Given the description of an element on the screen output the (x, y) to click on. 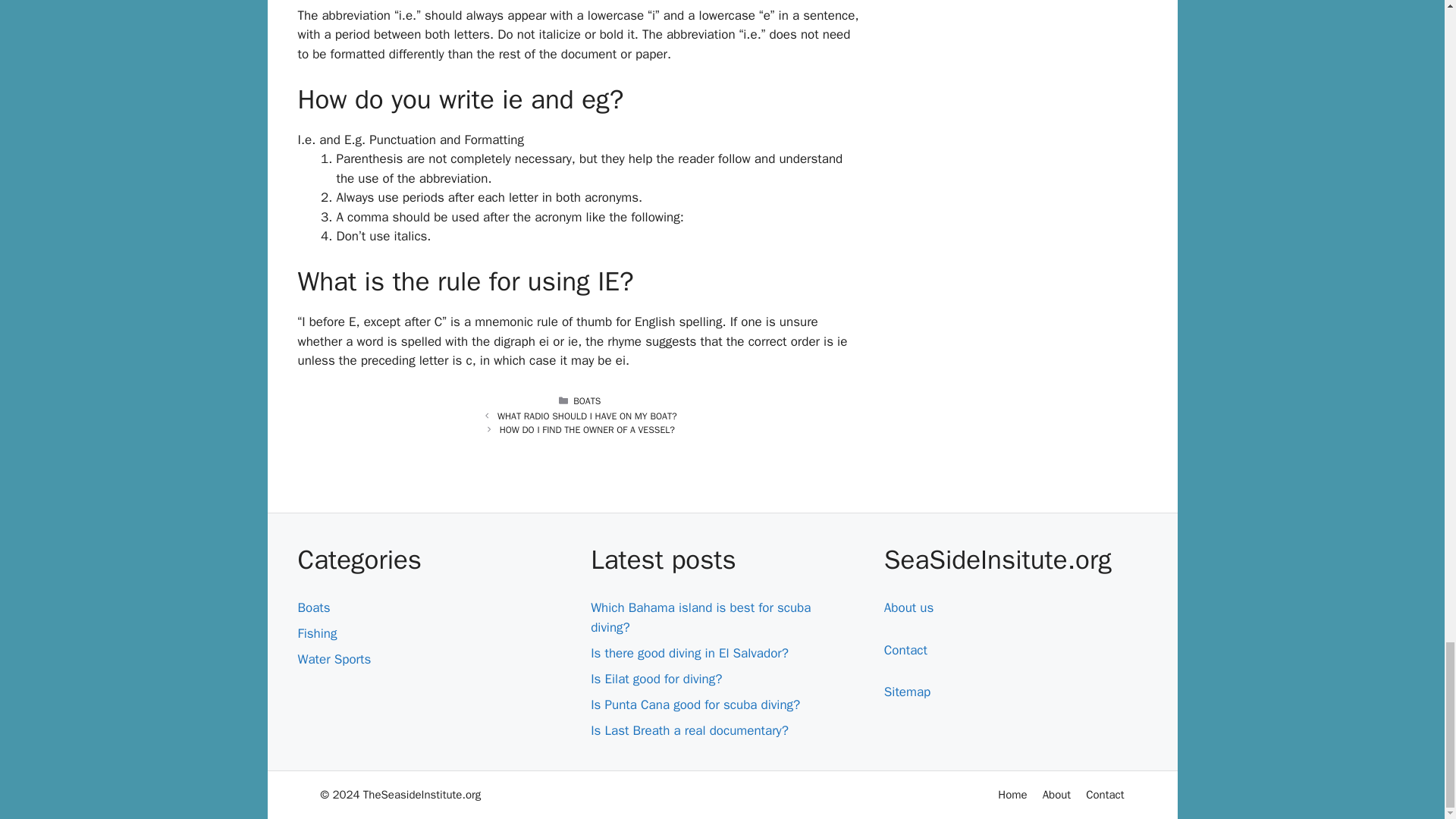
Fishing (316, 633)
Water Sports (334, 659)
BOATS (586, 400)
HOW DO I FIND THE OWNER OF A VESSEL? (587, 429)
Boats (313, 607)
Which Bahama island is best for scuba diving? (700, 617)
Is there good diving in El Salvador? (690, 652)
WHAT RADIO SHOULD I HAVE ON MY BOAT? (587, 416)
